Given the description of an element on the screen output the (x, y) to click on. 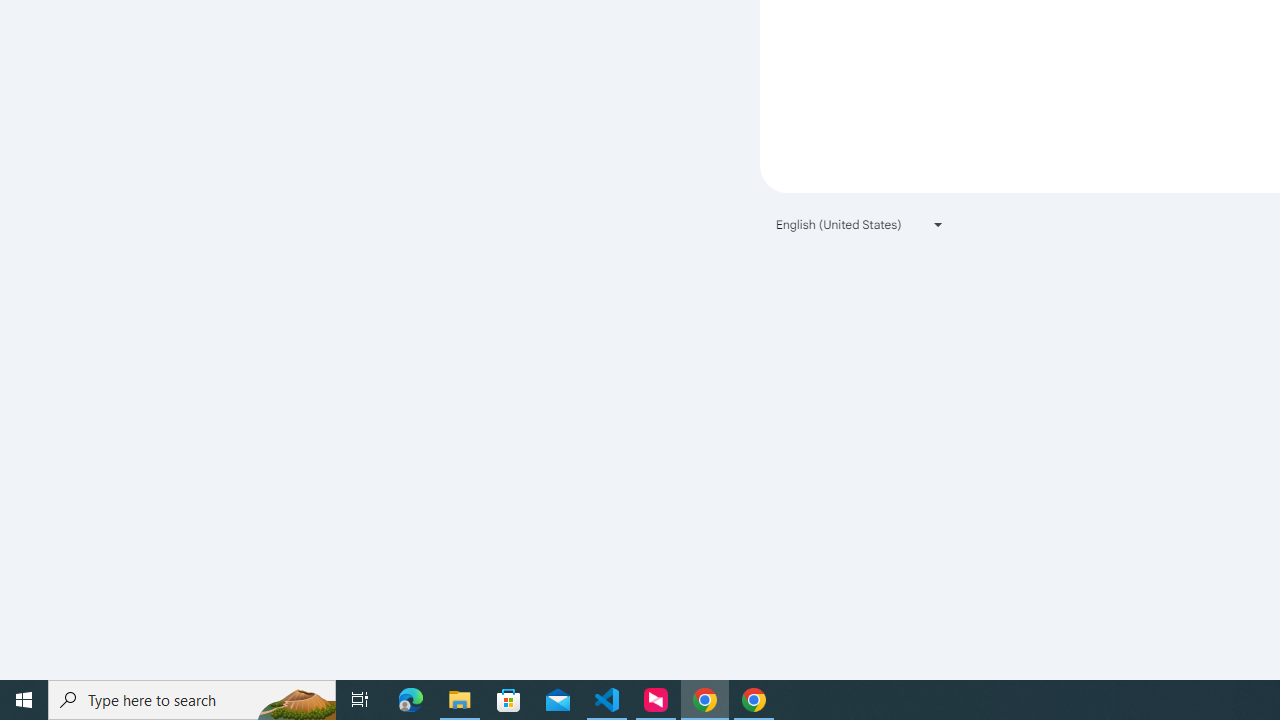
English (United States) (860, 224)
